Given the description of an element on the screen output the (x, y) to click on. 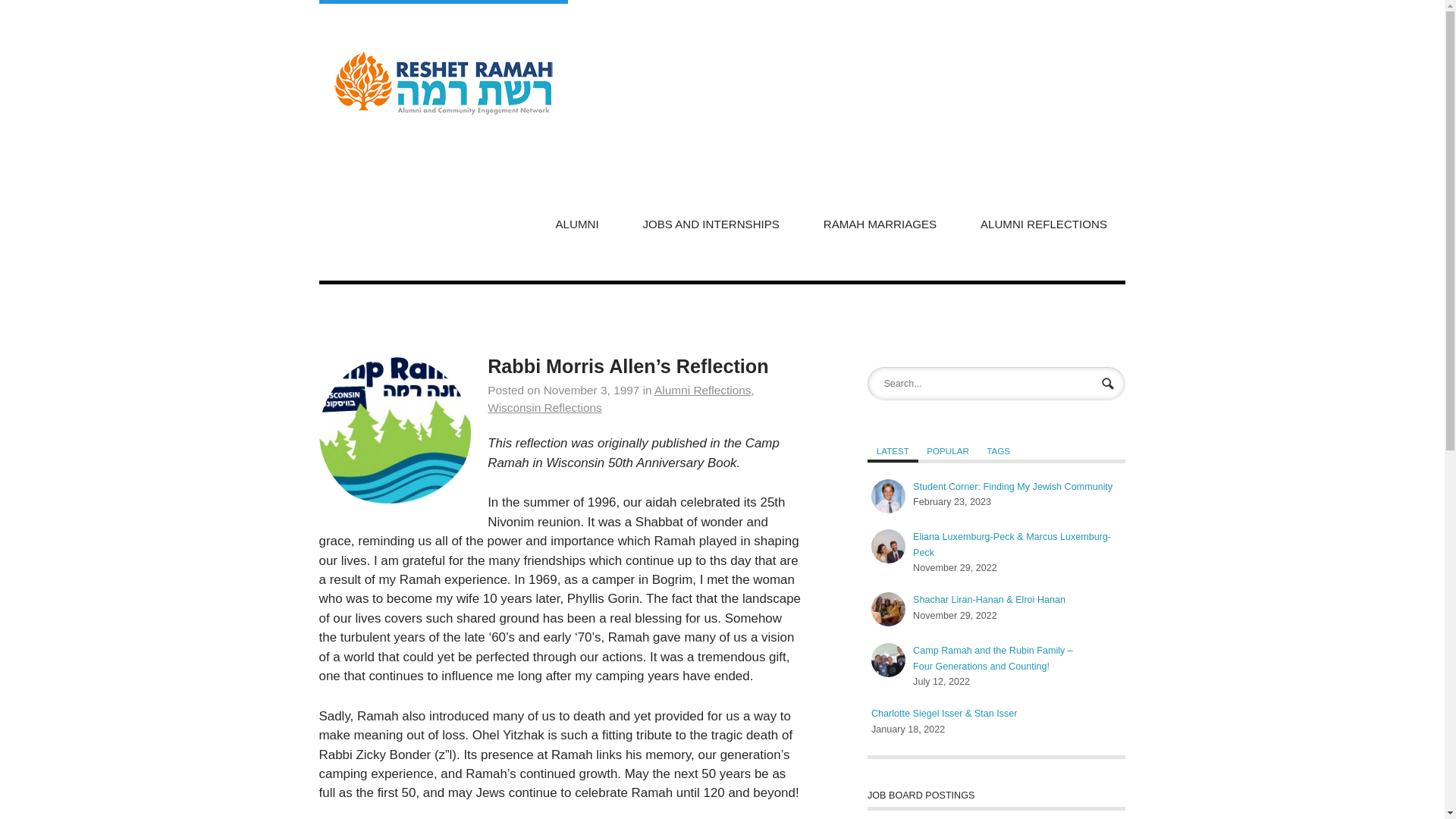
LATEST (892, 450)
JOBS AND INTERNSHIPS (710, 221)
RAMAH MARRIAGES (880, 221)
Student Corner: Finding My Jewish Community (1012, 486)
Student Corner: Finding My Jewish Community (887, 496)
Alumni Reflections (702, 390)
Search (1109, 385)
Search (1109, 385)
Wisconsin Reflections (544, 407)
POPULAR (948, 450)
